Given the description of an element on the screen output the (x, y) to click on. 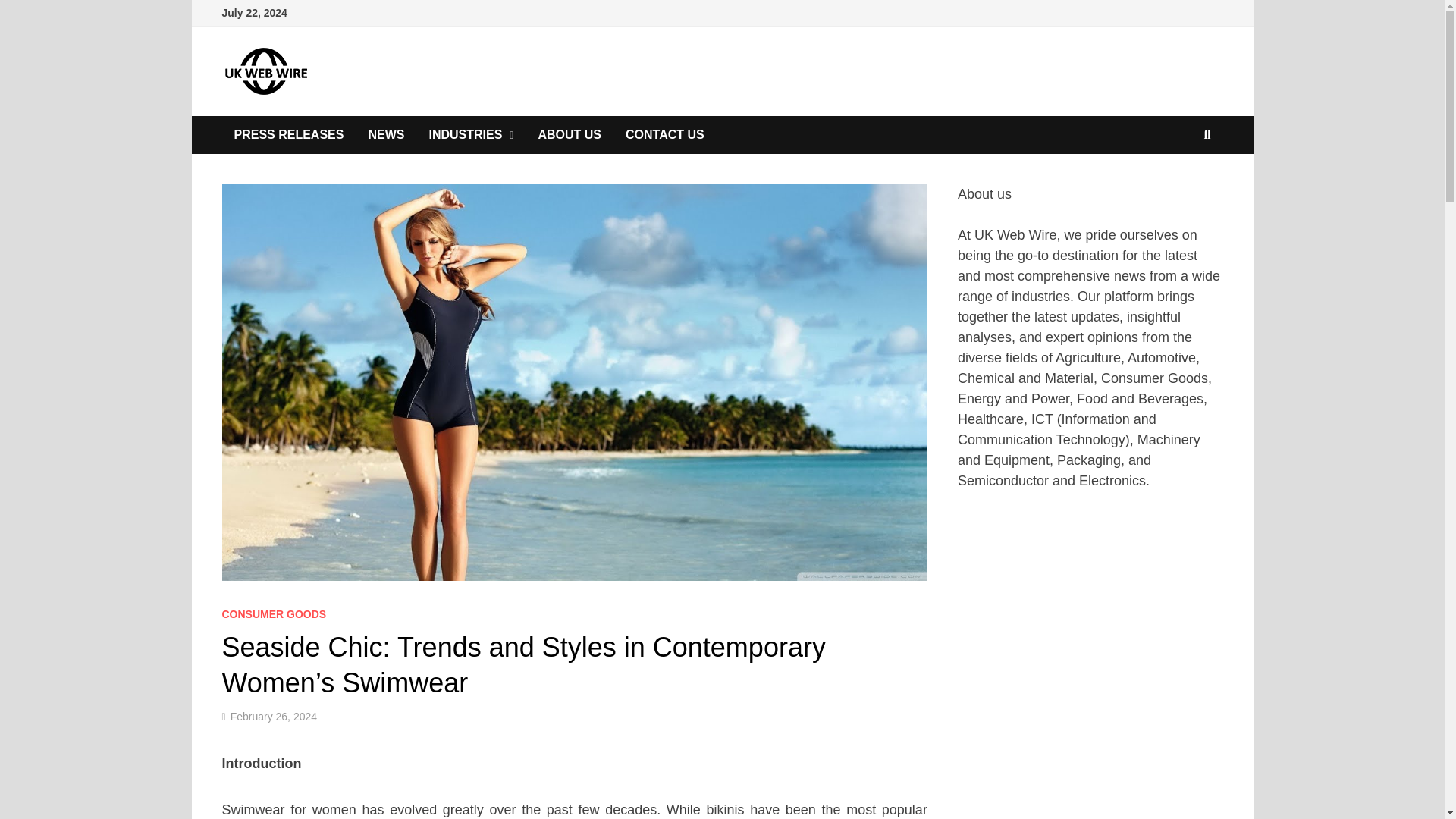
NEWS (385, 134)
CONTACT US (664, 134)
PRESS RELEASES (288, 134)
INDUSTRIES (470, 134)
CONSUMER GOODS (273, 613)
ABOUT US (568, 134)
